Given the description of an element on the screen output the (x, y) to click on. 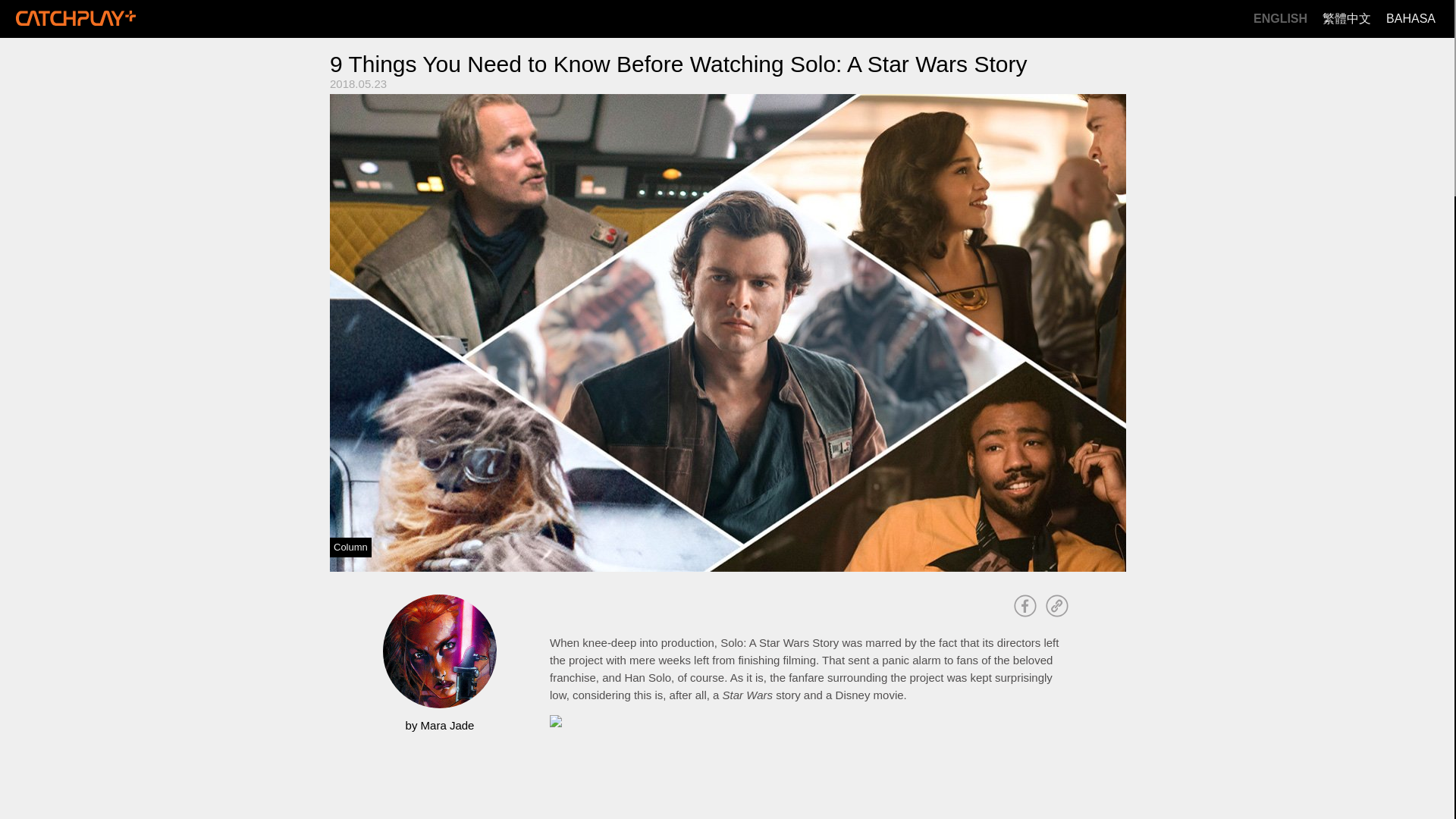
BAHASA (1410, 19)
ENGLISH (1280, 19)
